Given the description of an element on the screen output the (x, y) to click on. 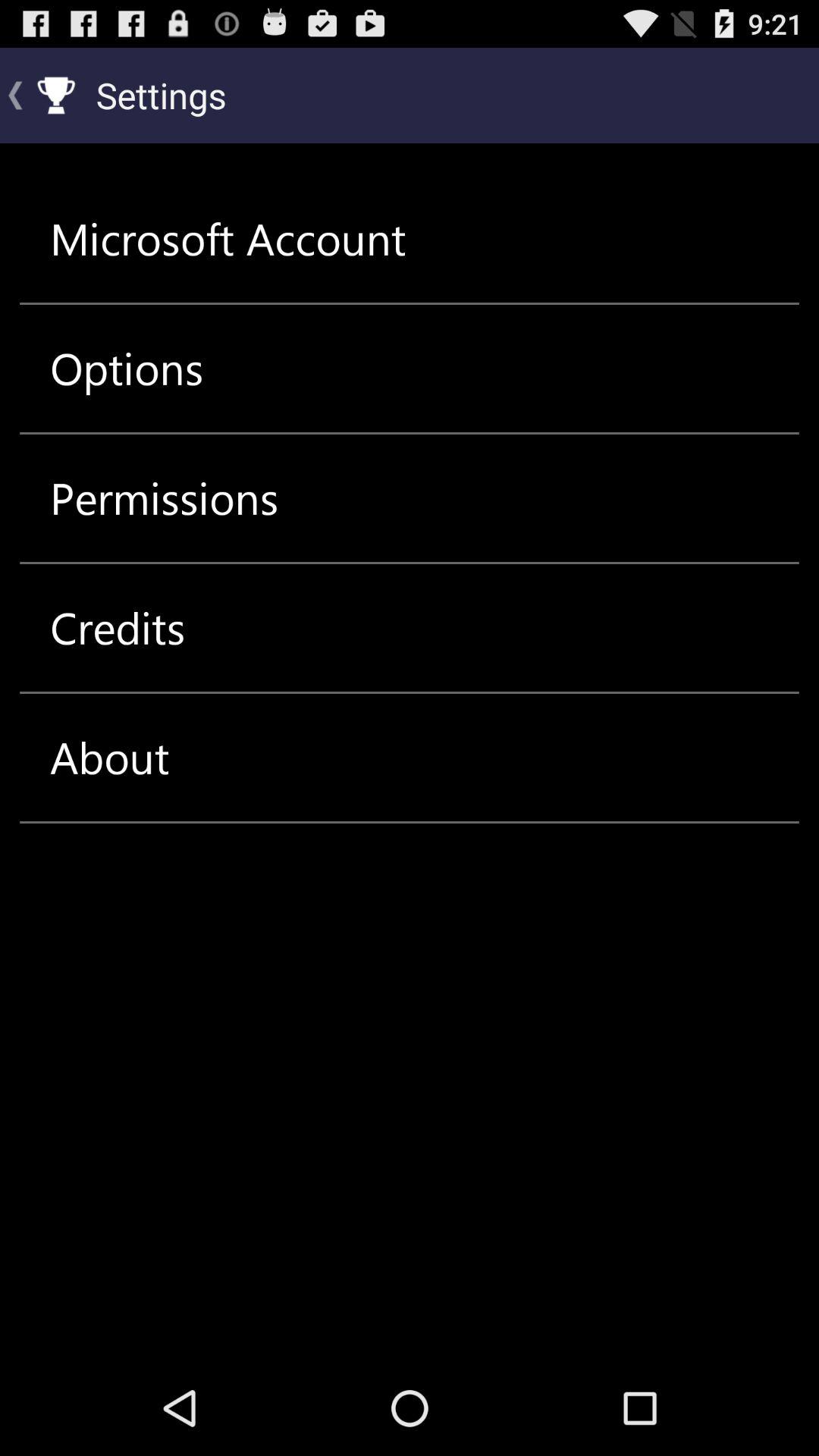
select icon above options item (228, 238)
